Given the description of an element on the screen output the (x, y) to click on. 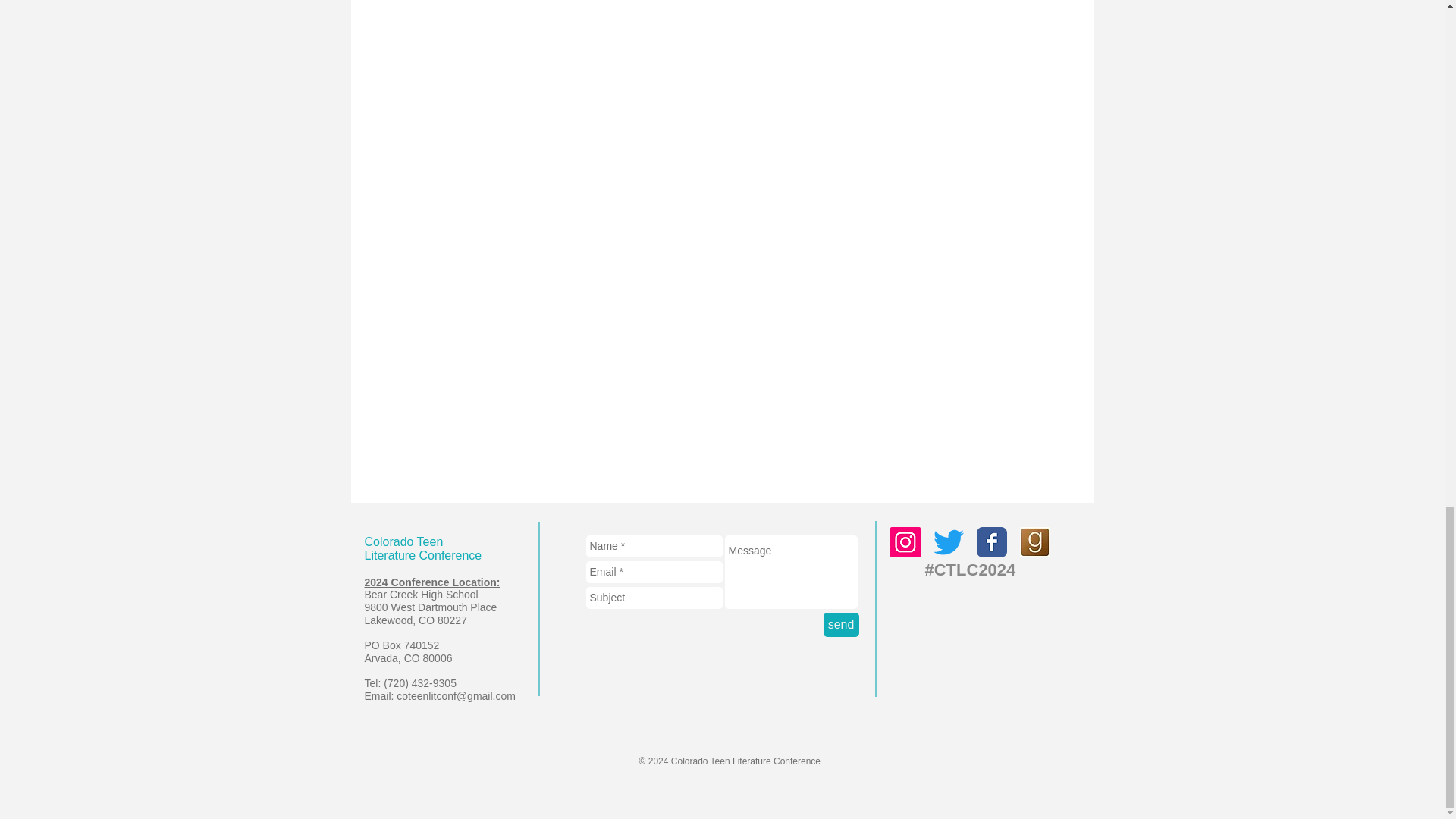
send (841, 624)
